Given the description of an element on the screen output the (x, y) to click on. 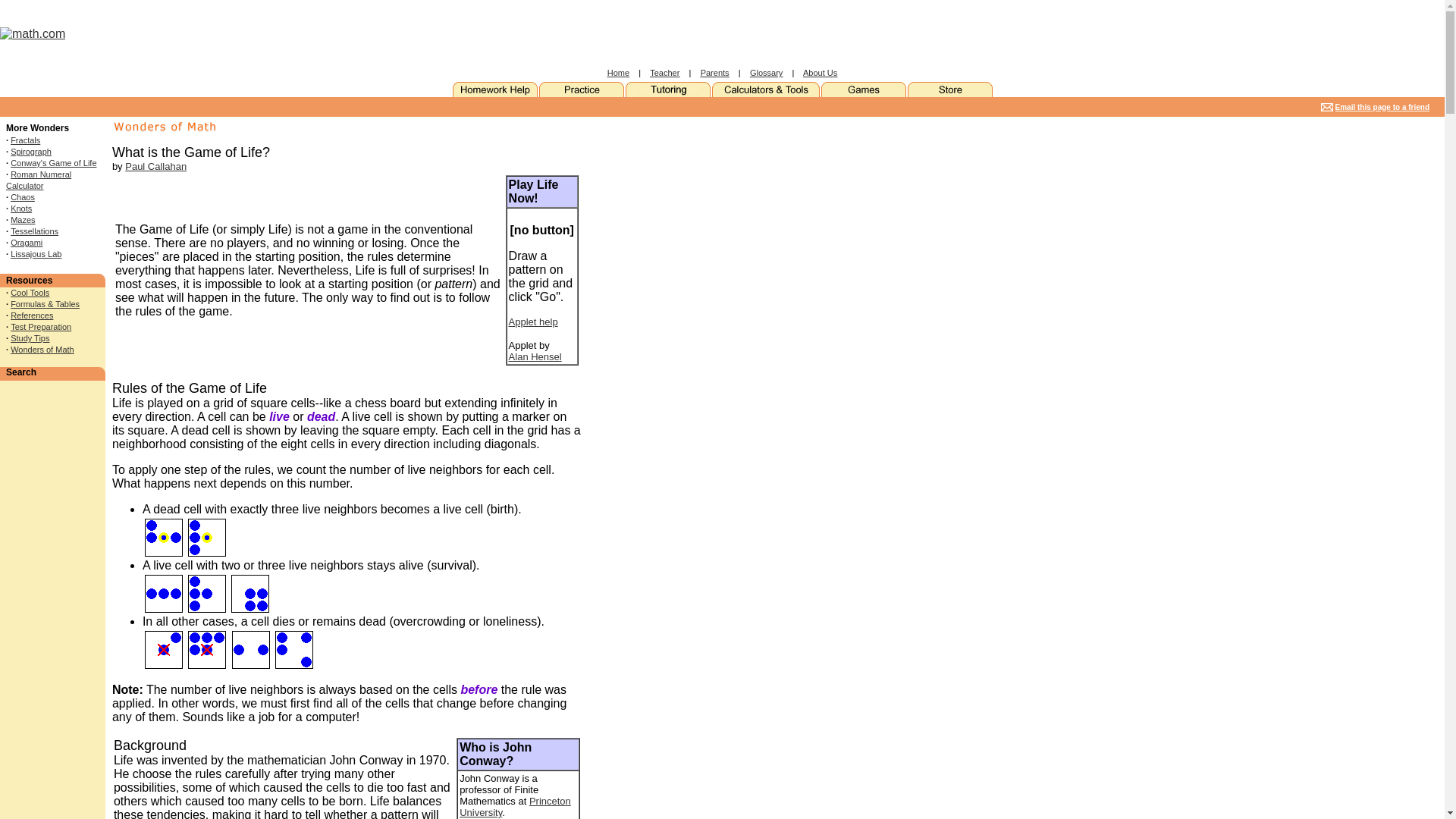
Chaos (22, 196)
Advertisement (428, 33)
Cool Tools (29, 292)
Conway's Game of Life (53, 162)
Test Preparation (40, 326)
About Us (820, 71)
Lissajous Lab (35, 253)
Oragami (26, 242)
Knots (21, 207)
Parents (714, 71)
